Given the description of an element on the screen output the (x, y) to click on. 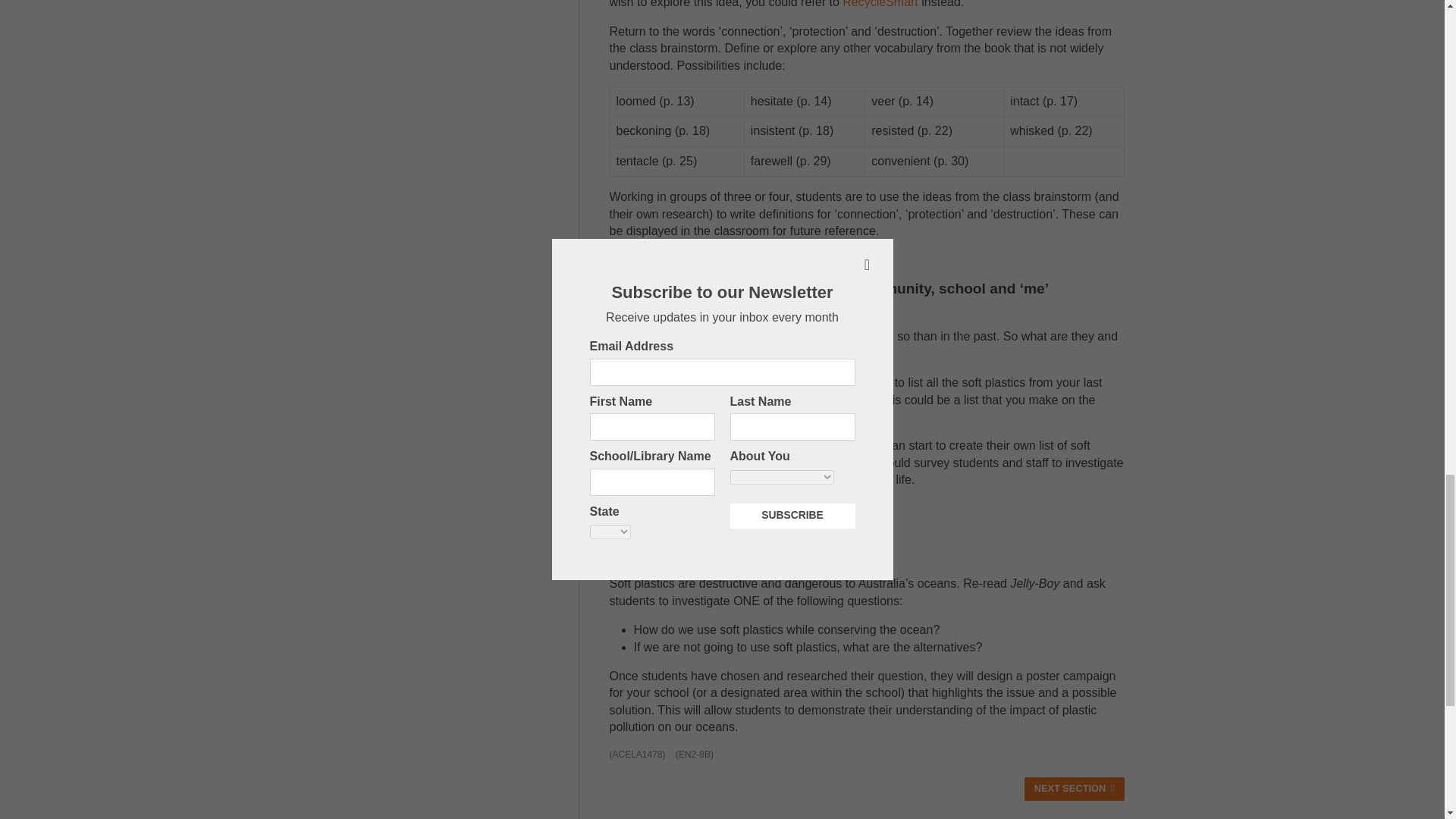
RecycleSmart (880, 4)
